Given the description of an element on the screen output the (x, y) to click on. 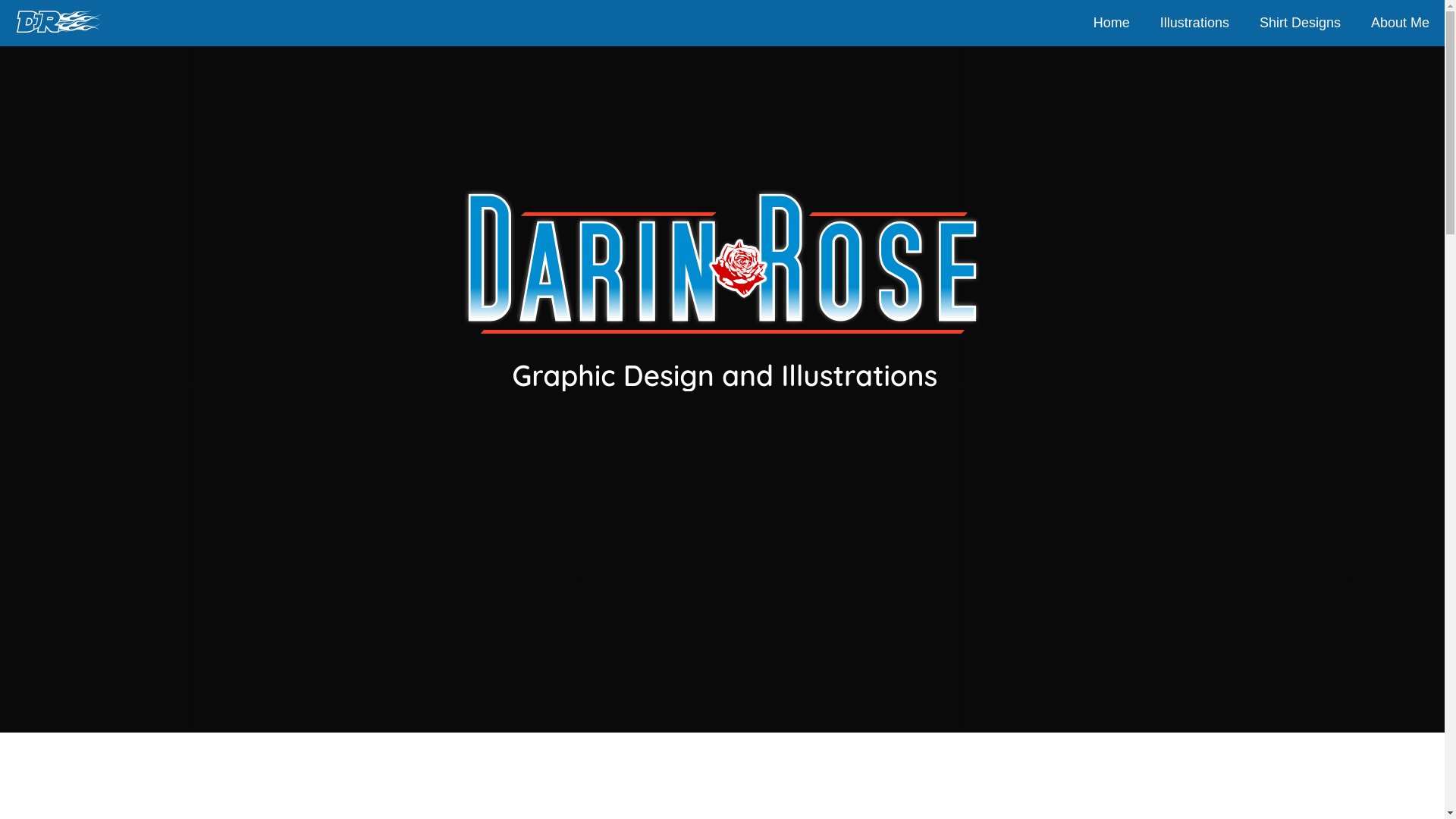
Shirt Designs (1299, 22)
Illustrations (1194, 22)
Home (1111, 22)
